Given the description of an element on the screen output the (x, y) to click on. 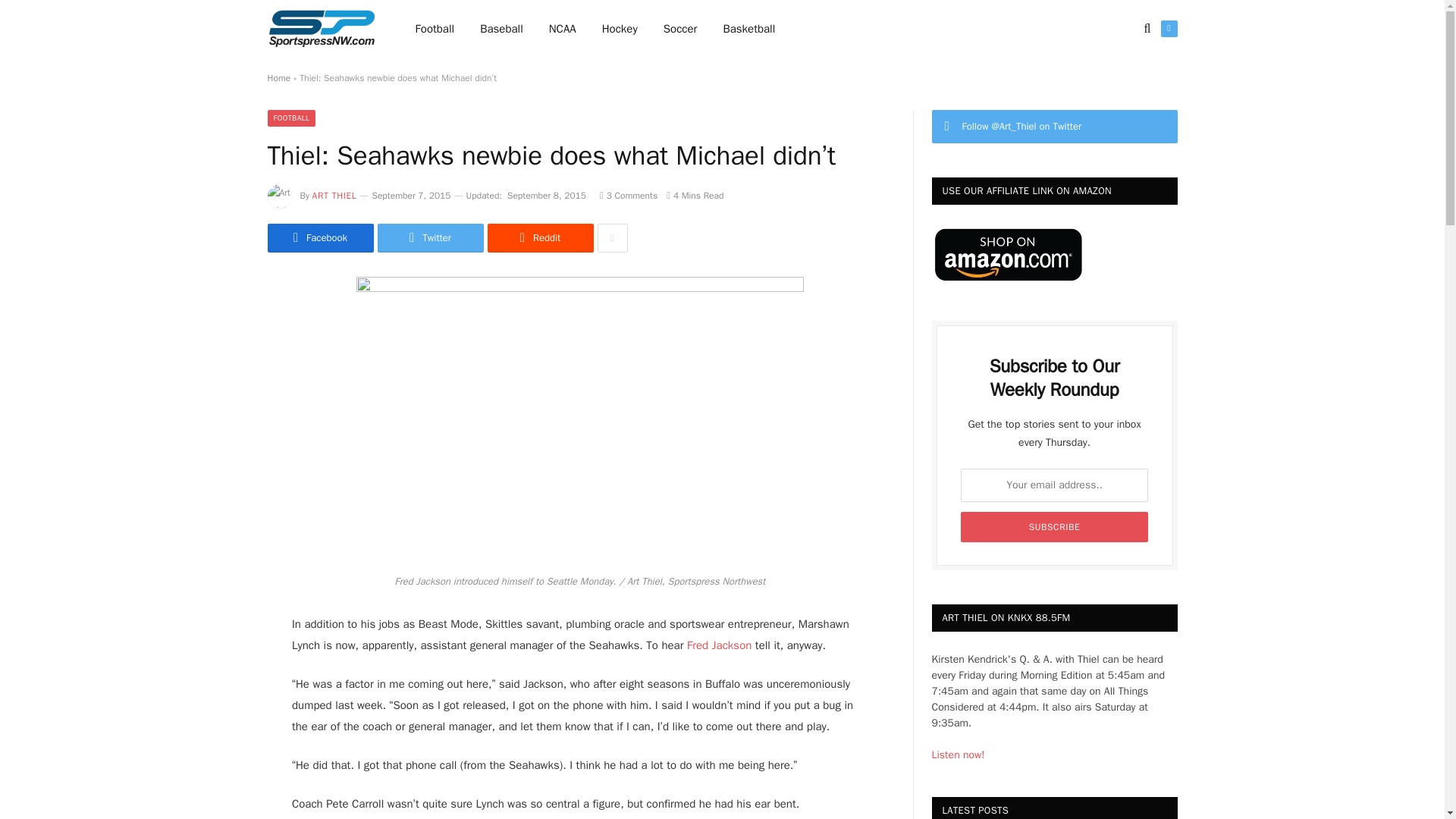
Football (435, 28)
Fred Jackson (716, 644)
ART THIEL (334, 195)
NCAA (562, 28)
Reddit (539, 237)
Share on Reddit (539, 237)
Subscribe (1053, 526)
Share on Twitter (319, 237)
Hockey (619, 28)
Soccer (680, 28)
Baseball (501, 28)
Basketball (748, 28)
FOOTBALL (290, 117)
Posts by Art Thiel (334, 195)
Facebook (319, 237)
